Given the description of an element on the screen output the (x, y) to click on. 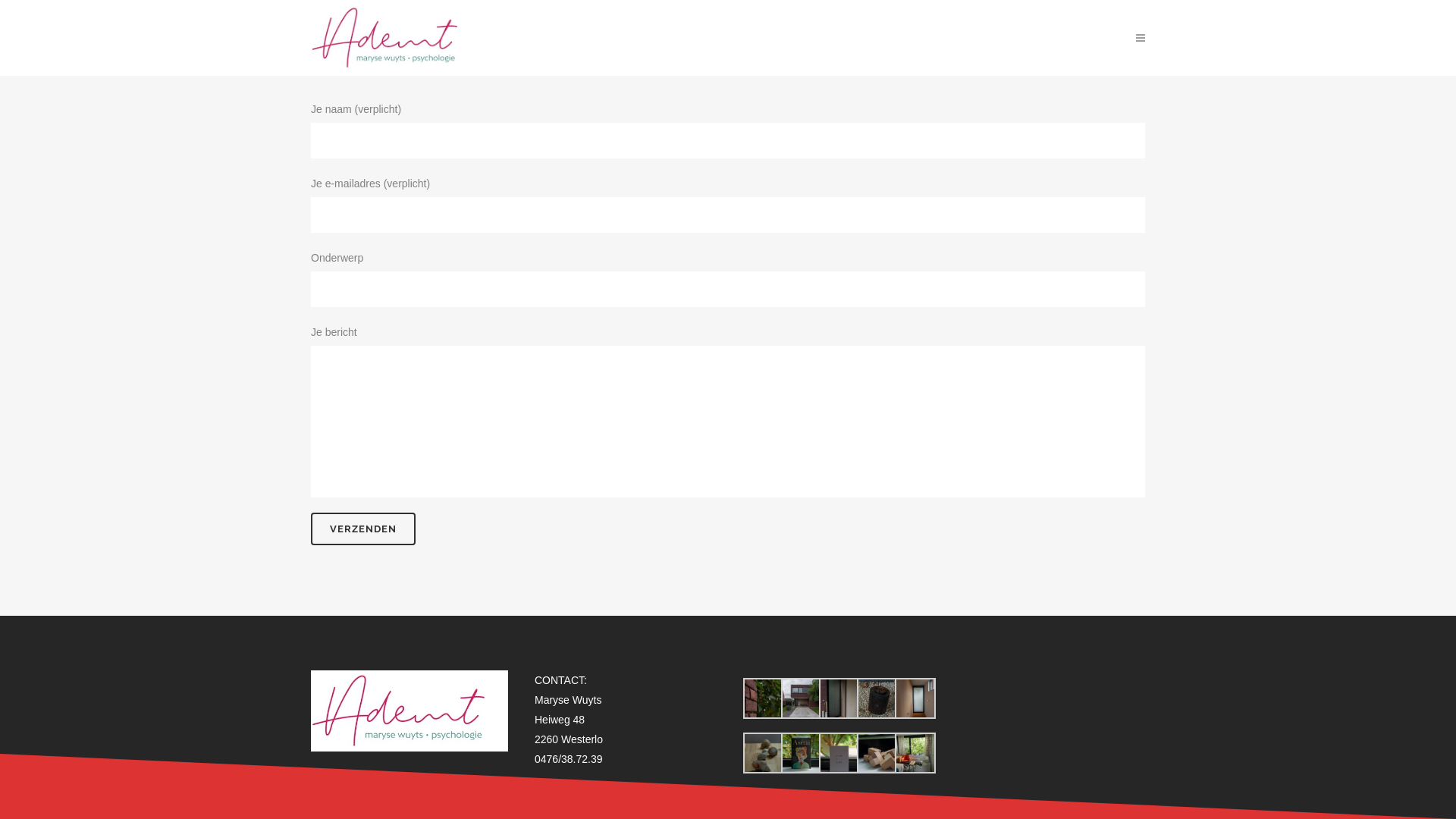
Verzenden Element type: text (362, 528)
